Given the description of an element on the screen output the (x, y) to click on. 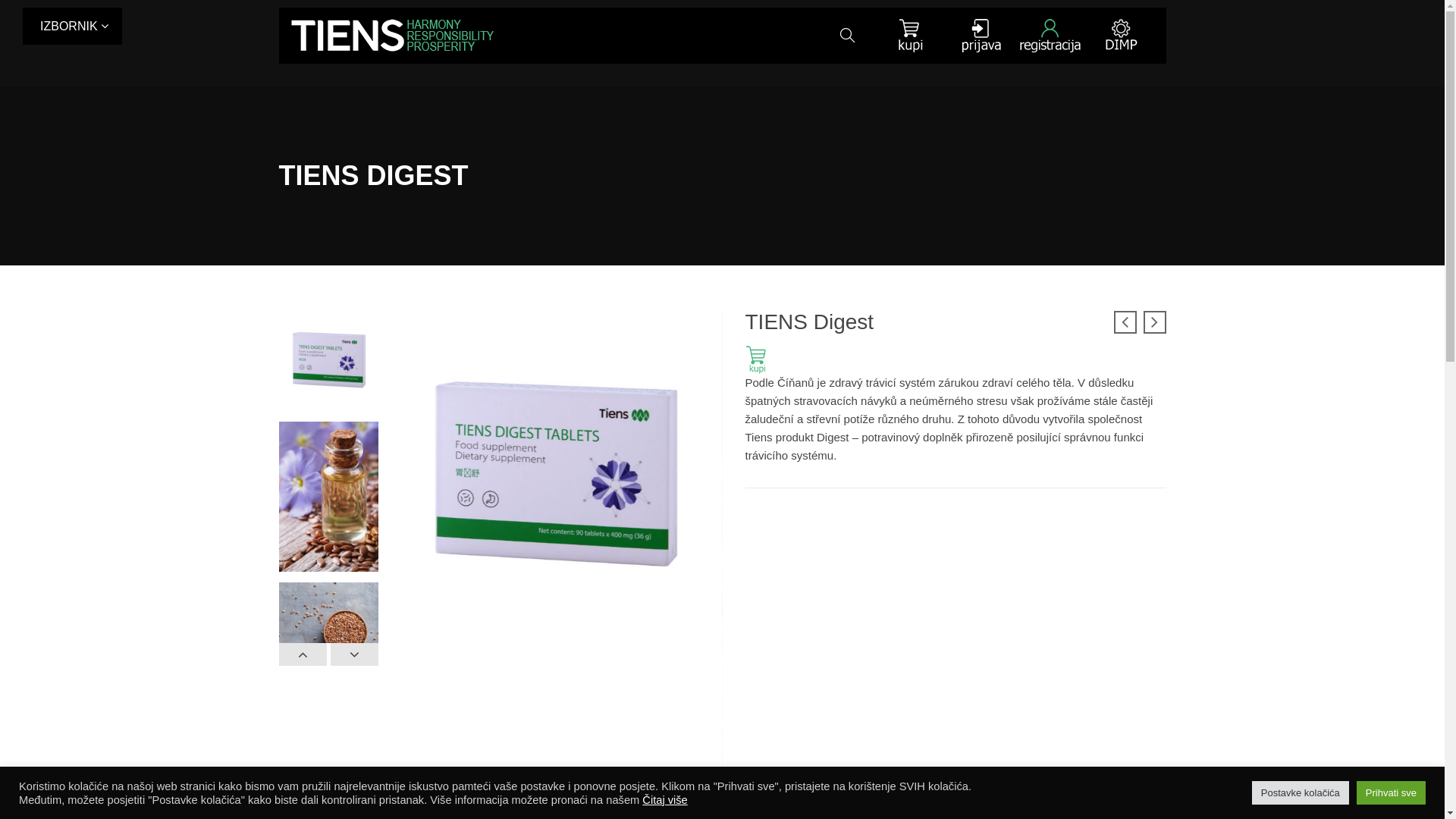
Next Element type: text (354, 654)
Tiens BA Element type: hover (392, 35)
IZBORNIK Element type: text (72, 25)
Previous Element type: text (302, 654)
Prihvati sve Element type: text (1390, 792)
